Given the description of an element on the screen output the (x, y) to click on. 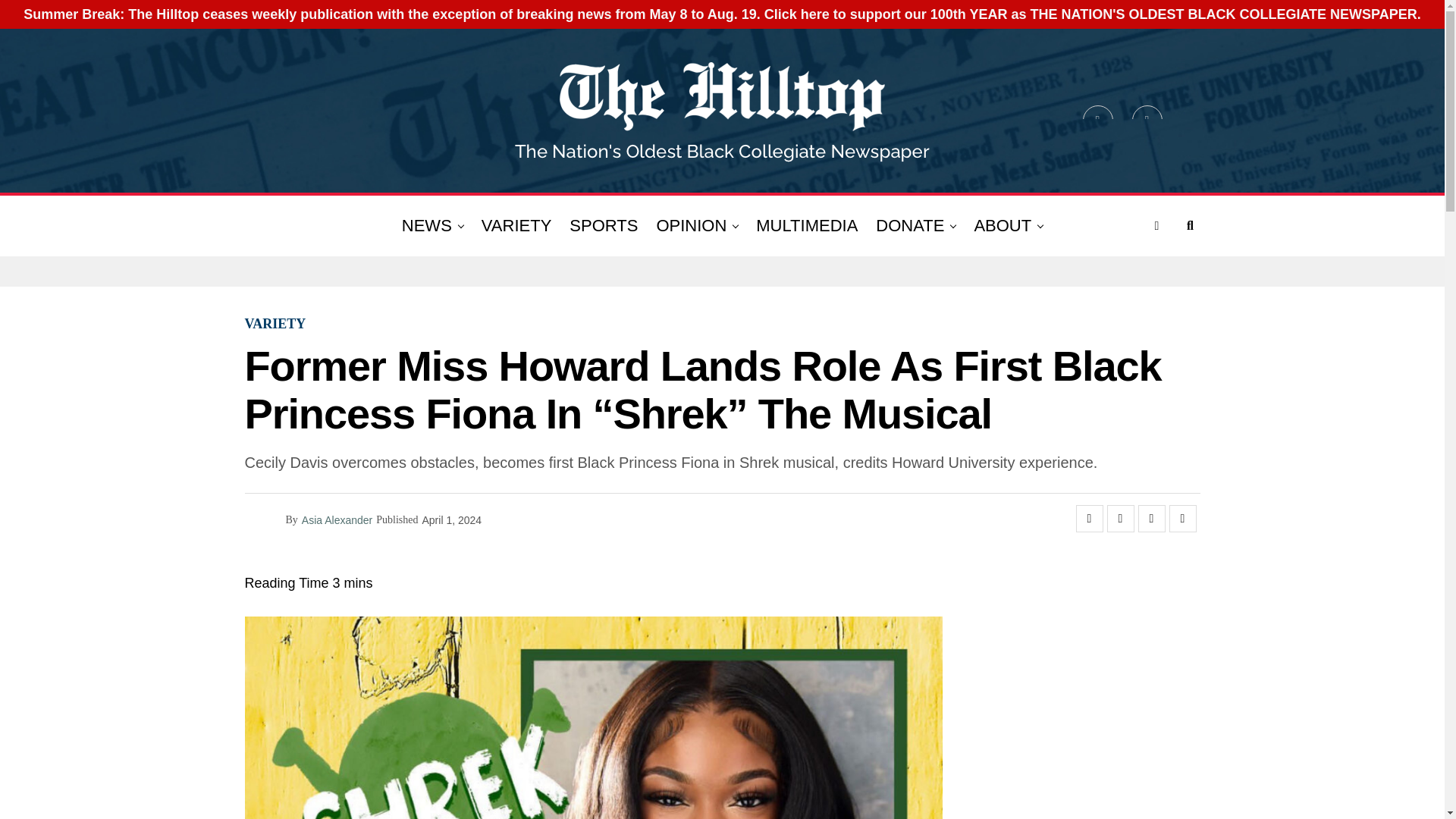
MULTIMEDIA (806, 225)
VARIETY (516, 225)
Tweet This Post (1120, 518)
Share on Facebook (1088, 518)
SPORTS (603, 225)
OPINION (690, 225)
NEWS (427, 225)
DONATE (909, 225)
Posts by Asia Alexander (336, 520)
Share on Flipboard (1150, 518)
